Given the description of an element on the screen output the (x, y) to click on. 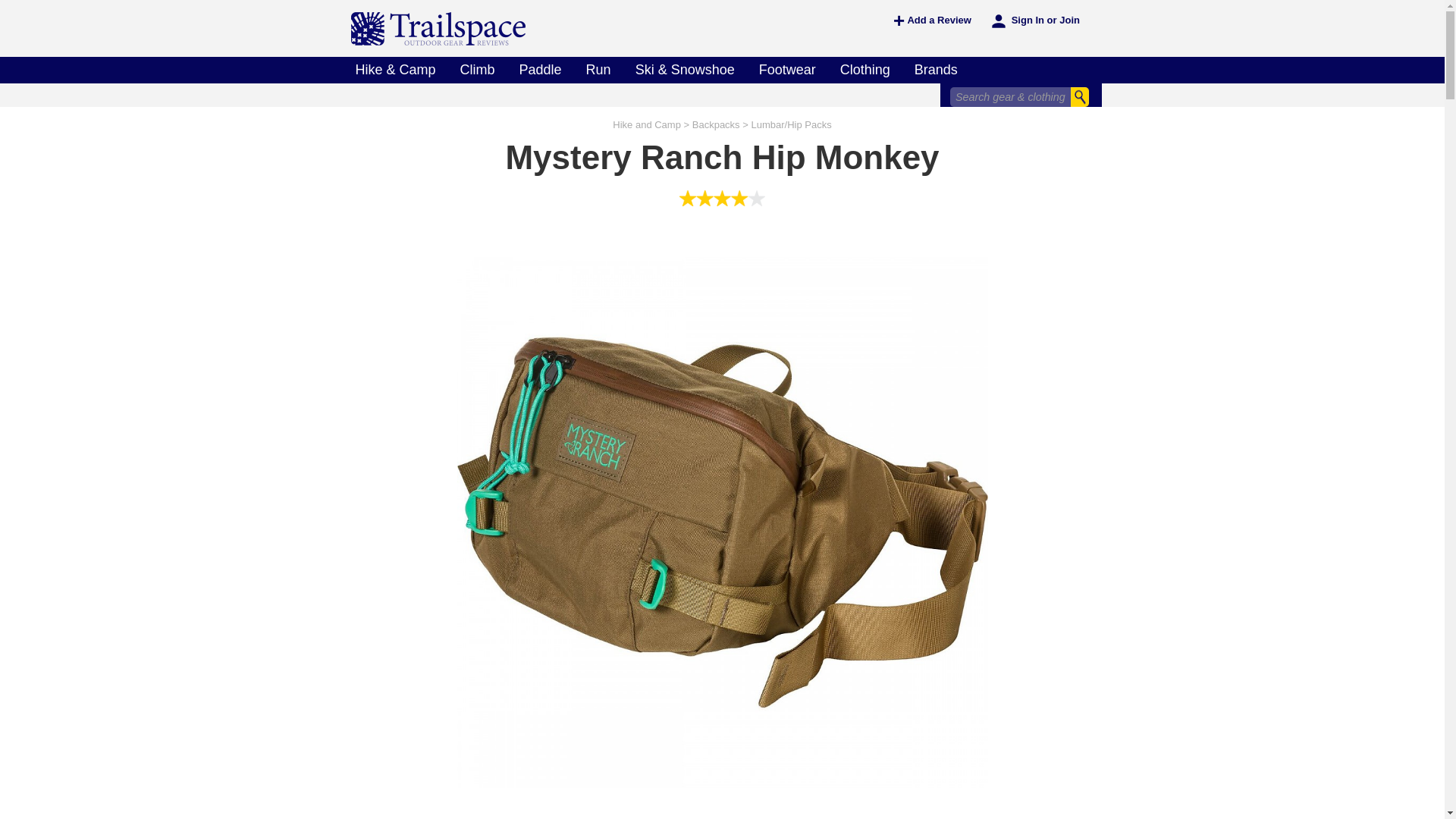
Sign In or Join (1034, 21)
